Given the description of an element on the screen output the (x, y) to click on. 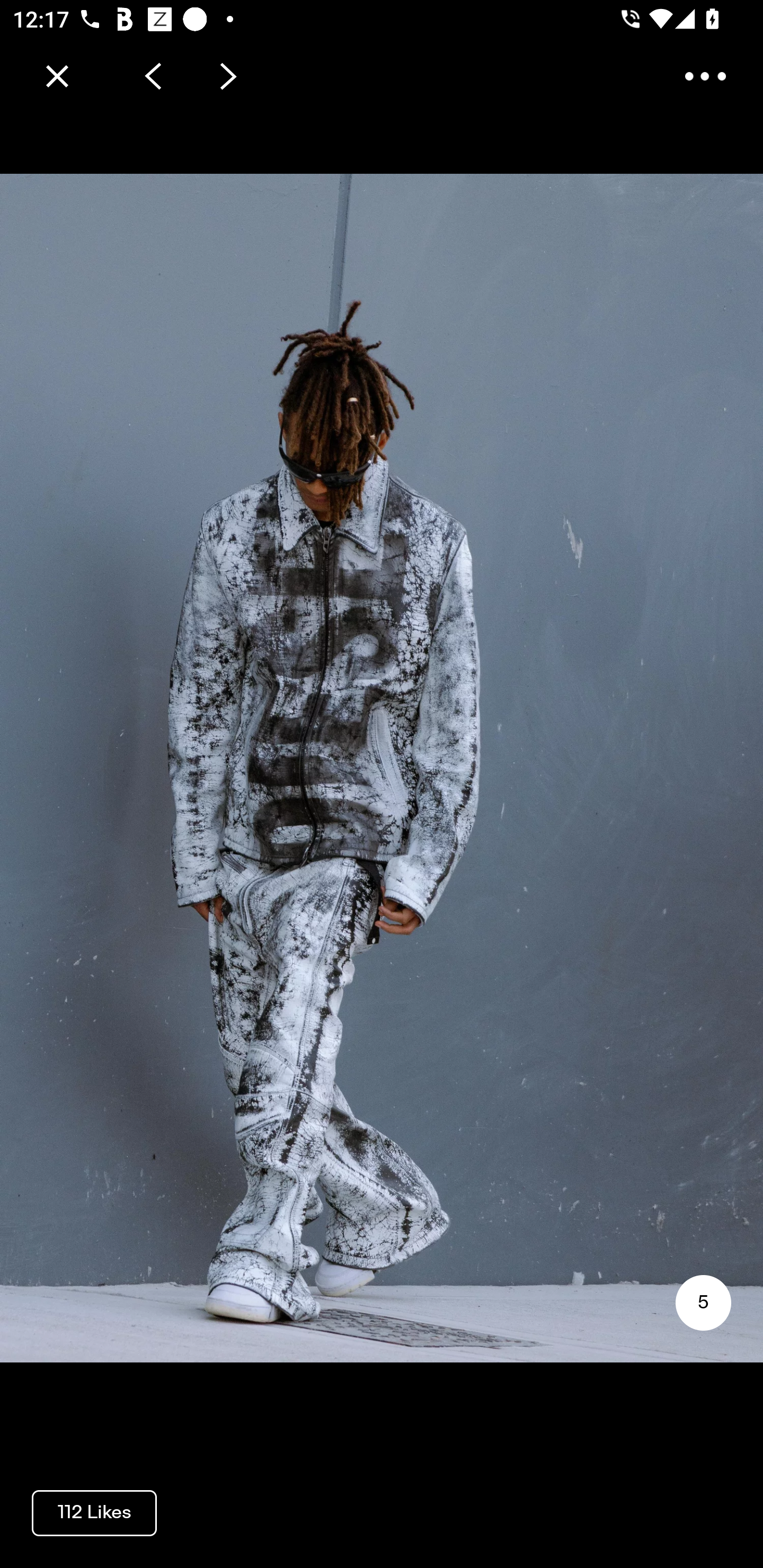
5 (702, 1302)
112 Likes (94, 1512)
